Given the description of an element on the screen output the (x, y) to click on. 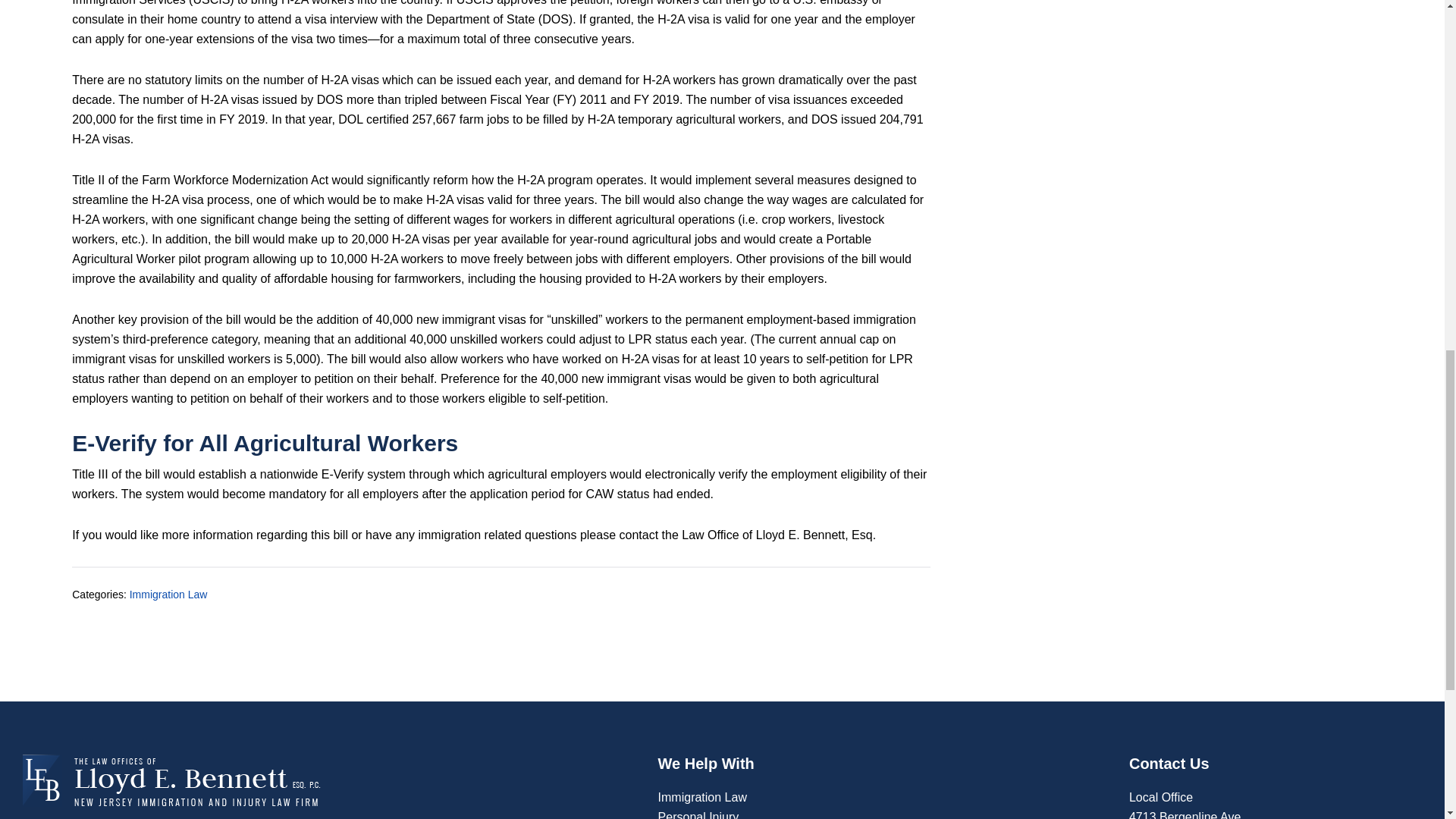
Personal Injury (698, 814)
Immigration Law (168, 594)
Immigration Law (702, 797)
